Given the description of an element on the screen output the (x, y) to click on. 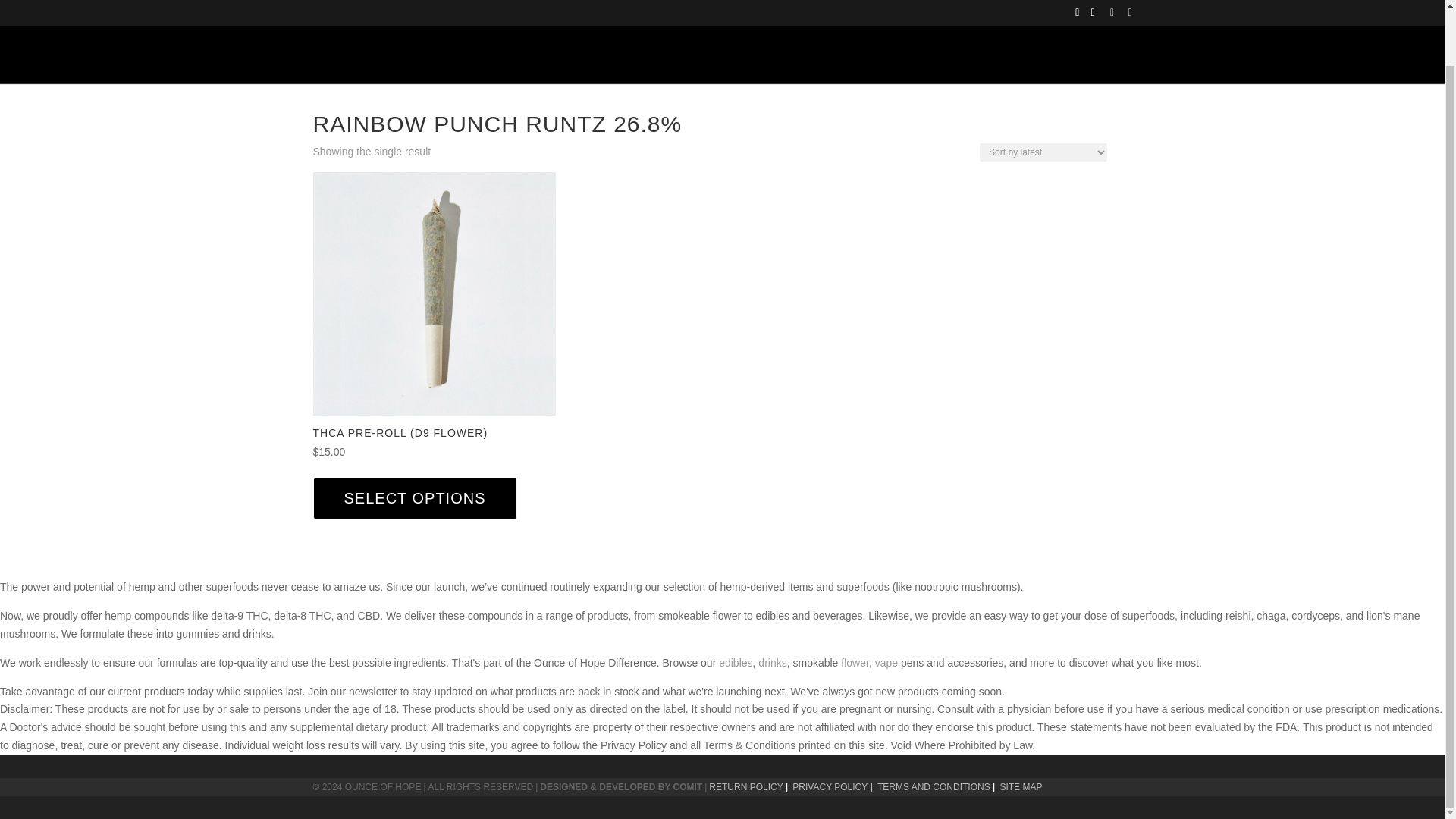
OUR STORY (549, 11)
NEWS (708, 11)
ABOUT (462, 11)
BLOG (769, 11)
SHOP (638, 11)
Web Design Lafayette Louisiana (620, 786)
